Given the description of an element on the screen output the (x, y) to click on. 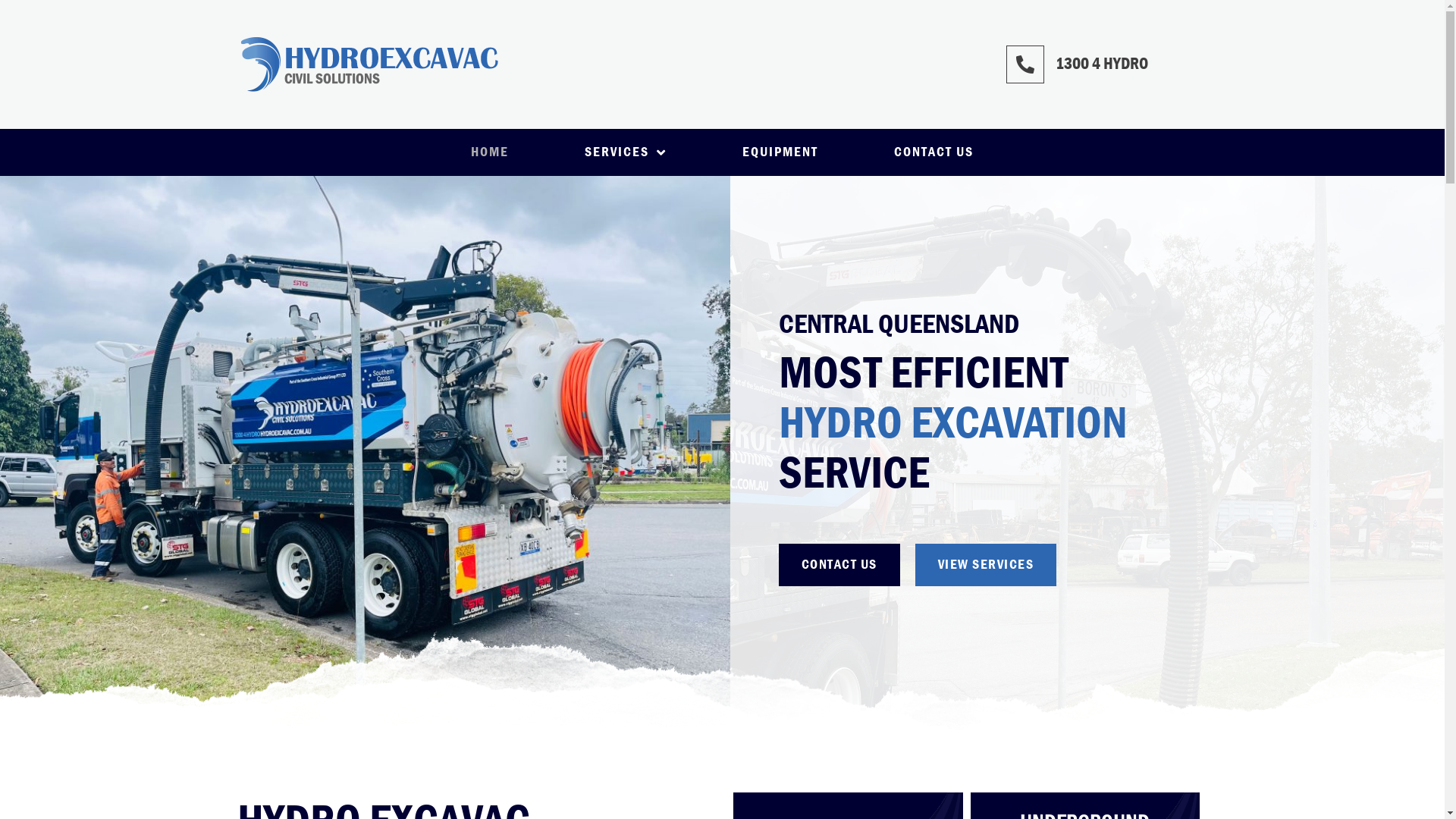
CONTACT US Element type: text (839, 564)
EQUIPMENT Element type: text (780, 152)
HOME Element type: text (489, 152)
VIEW SERVICES Element type: text (986, 564)
SERVICES Element type: text (625, 152)
1300 4 HYDRO Element type: text (1101, 63)
CONTACT US Element type: text (933, 152)
